Given the description of an element on the screen output the (x, y) to click on. 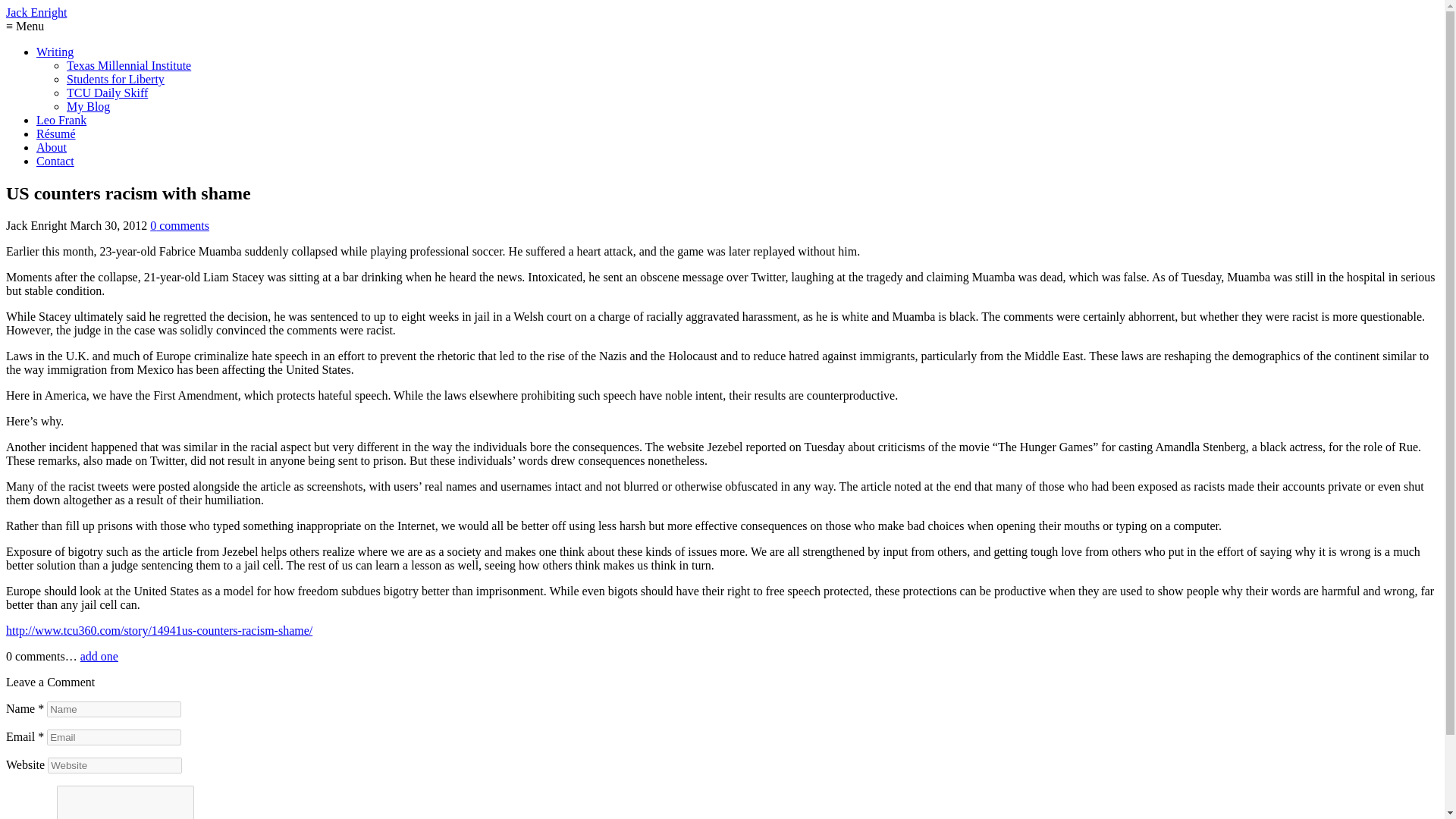
Writing (55, 51)
2012-03-30 (108, 225)
Leo Frank (60, 119)
My Blog (88, 106)
Jack Enright (35, 11)
0 comments (179, 225)
Required (40, 707)
About (51, 146)
Students for Liberty (115, 78)
Required (40, 736)
Texas Millennial Institute (128, 65)
Contact (55, 160)
TCU Daily Skiff (107, 92)
add one (98, 656)
